Given the description of an element on the screen output the (x, y) to click on. 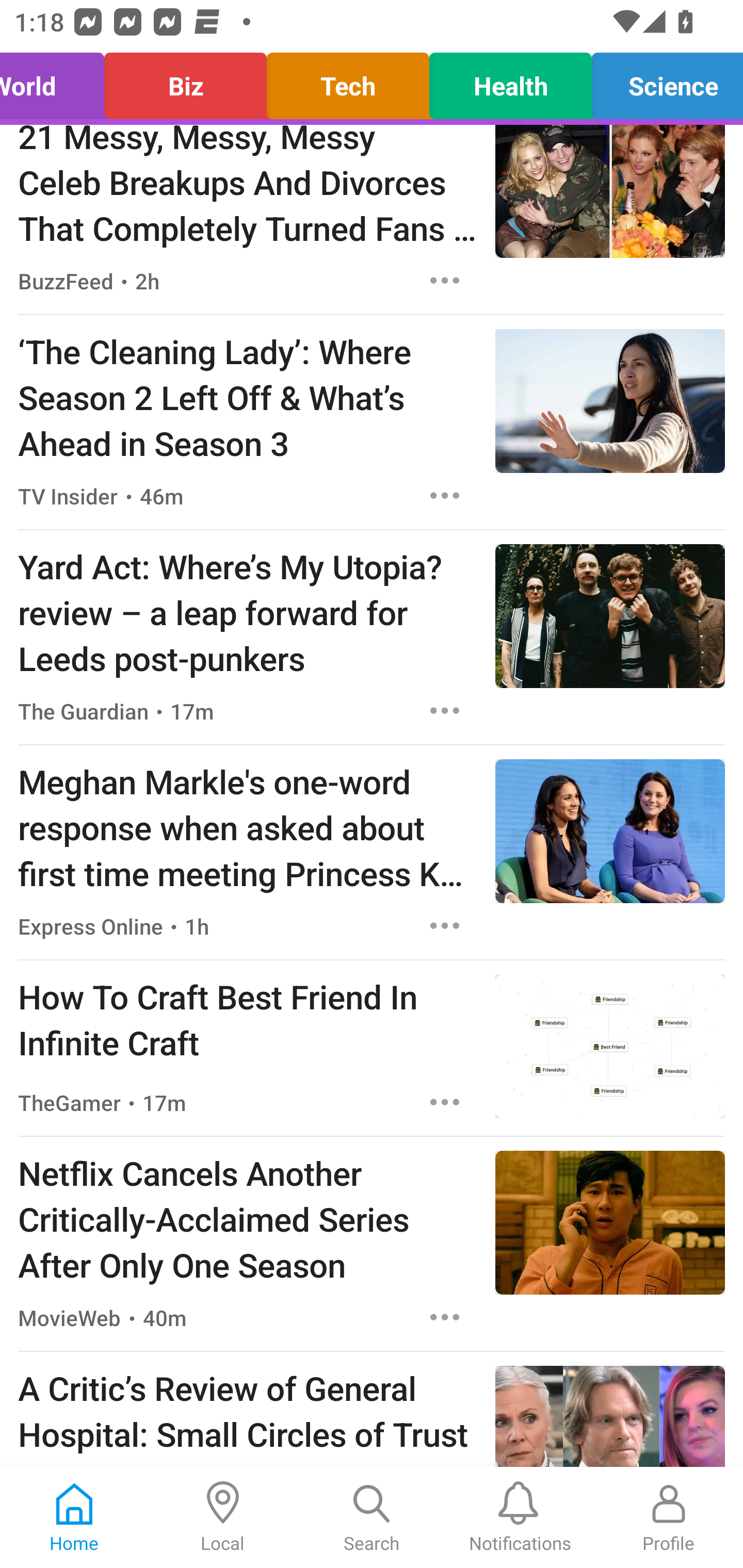
Biz (185, 81)
Tech (347, 81)
Health (510, 81)
Science (662, 81)
Options (444, 280)
Options (444, 495)
Options (444, 710)
Options (444, 925)
Options (444, 1102)
Options (444, 1317)
Local (222, 1517)
Search (371, 1517)
Notifications (519, 1517)
Profile (668, 1517)
